Given the description of an element on the screen output the (x, y) to click on. 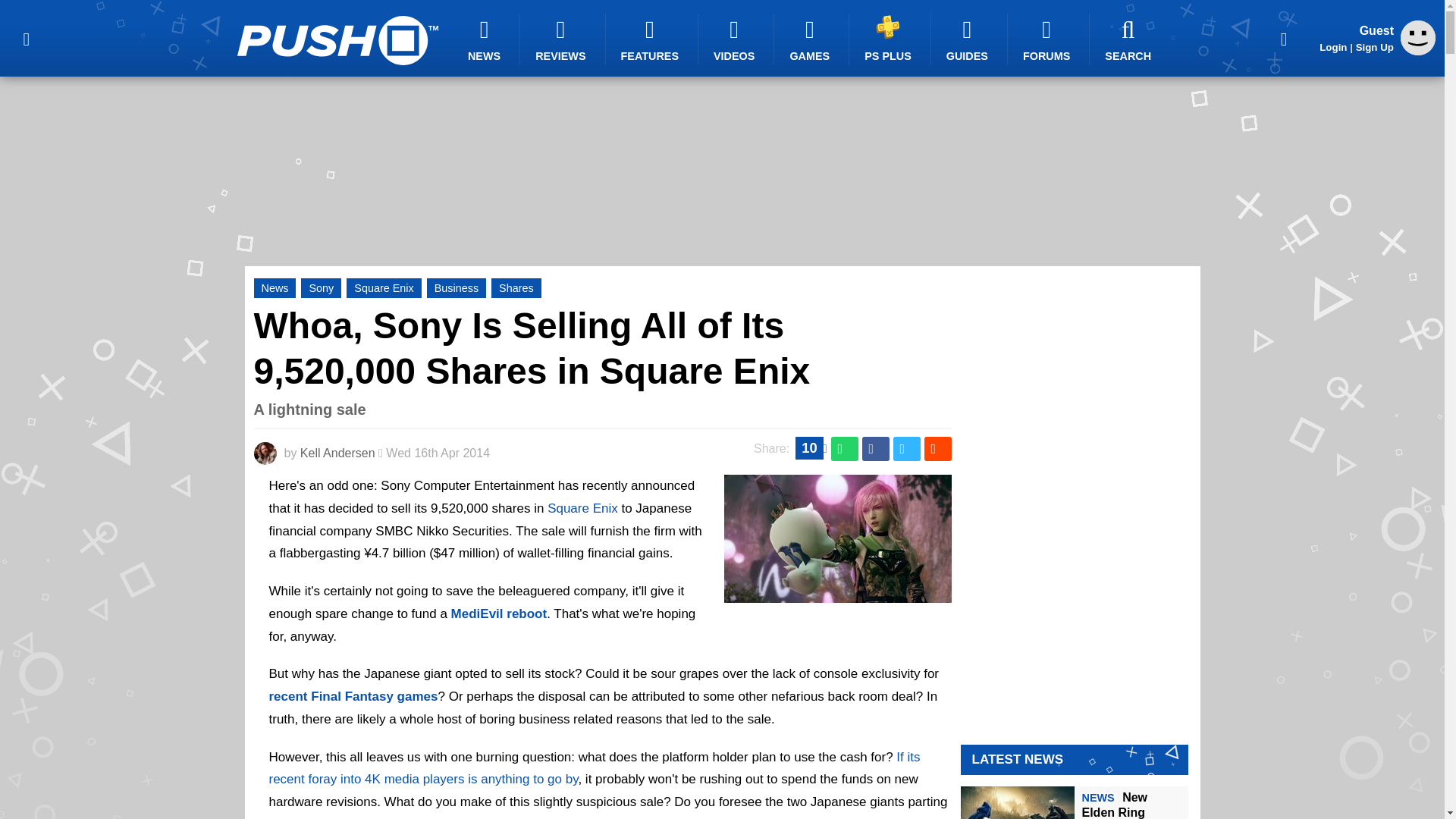
FORUMS (1048, 39)
Sign Up (1374, 47)
Menu (26, 37)
Share This Page (1283, 37)
"Don't make this harder than it needs to be" (836, 593)
Guest (1417, 51)
GUIDES (969, 39)
Business (456, 288)
Share this on WhatsApp (845, 448)
Guest (1417, 37)
News (274, 288)
Share this on Facebook (874, 448)
VIDEOS (736, 39)
Sony (320, 288)
Square Enix (383, 288)
